Given the description of an element on the screen output the (x, y) to click on. 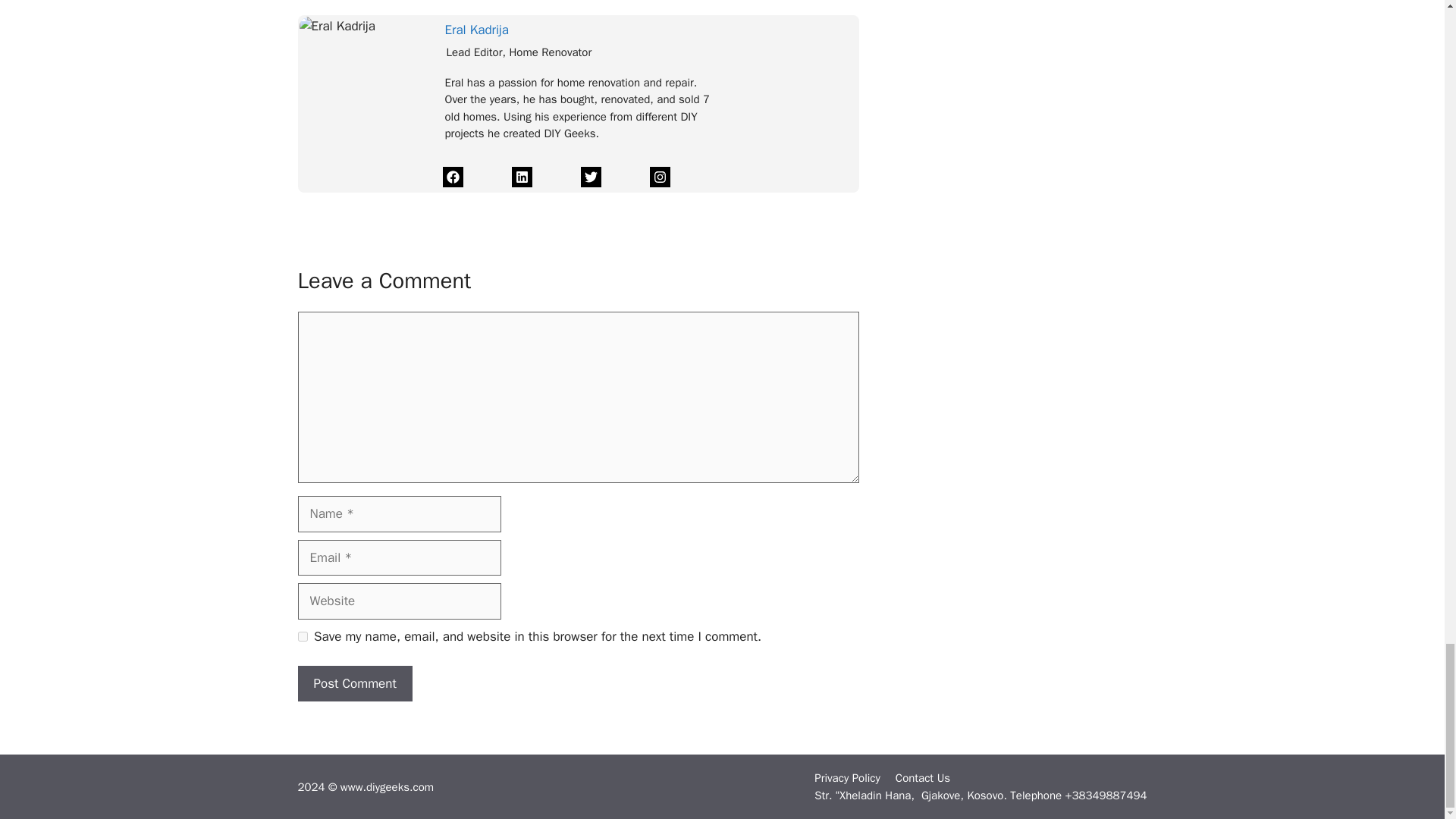
Privacy Policy (846, 777)
yes (302, 636)
Post Comment (354, 683)
Eral Kadrija (476, 29)
Post Comment (354, 683)
Contact Us (922, 777)
